Given the description of an element on the screen output the (x, y) to click on. 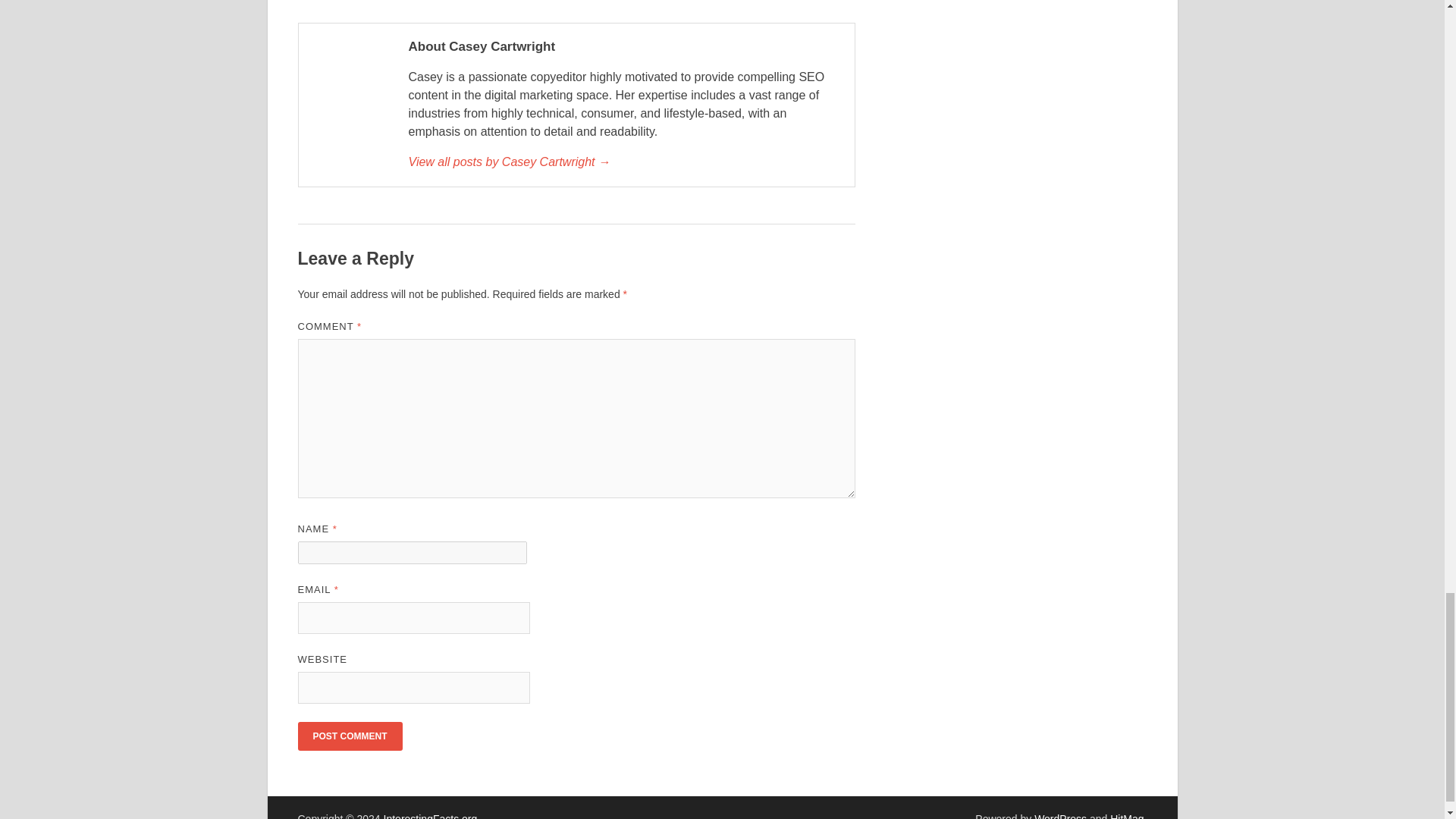
Post Comment (349, 736)
Casey Cartwright (622, 162)
